Given the description of an element on the screen output the (x, y) to click on. 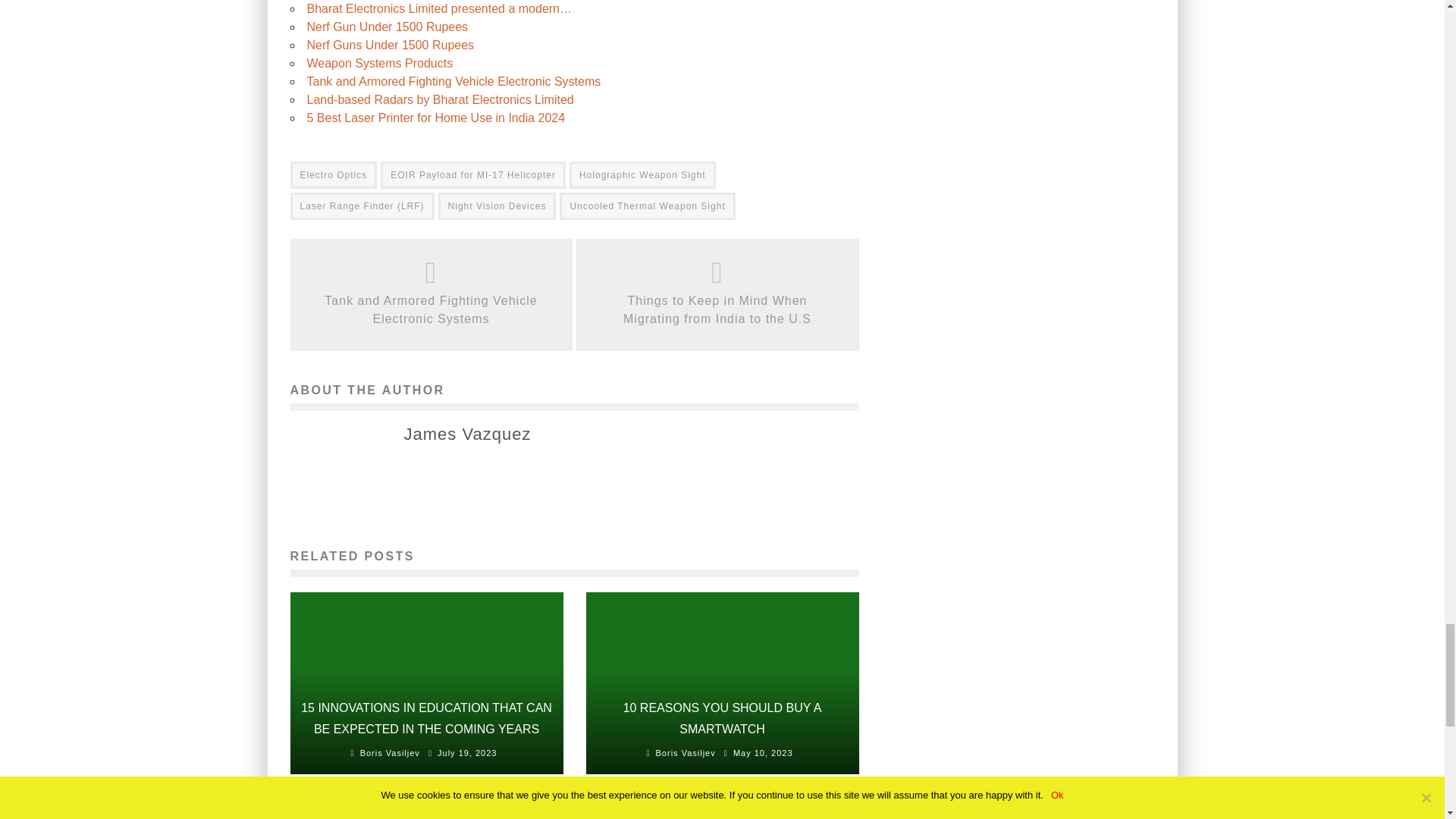
Land-based Radars by Bharat Electronics Limited (439, 99)
Tank and Armored Fighting Vehicle Electronic Systems (452, 81)
Nerf Guns Under 1500 Rupees (389, 44)
Nerf Gun Under 1500 Rupees (386, 26)
Weapon Systems Products (378, 62)
5 Best Laser Printer for Home Use in India 2024 (434, 117)
